Given the description of an element on the screen output the (x, y) to click on. 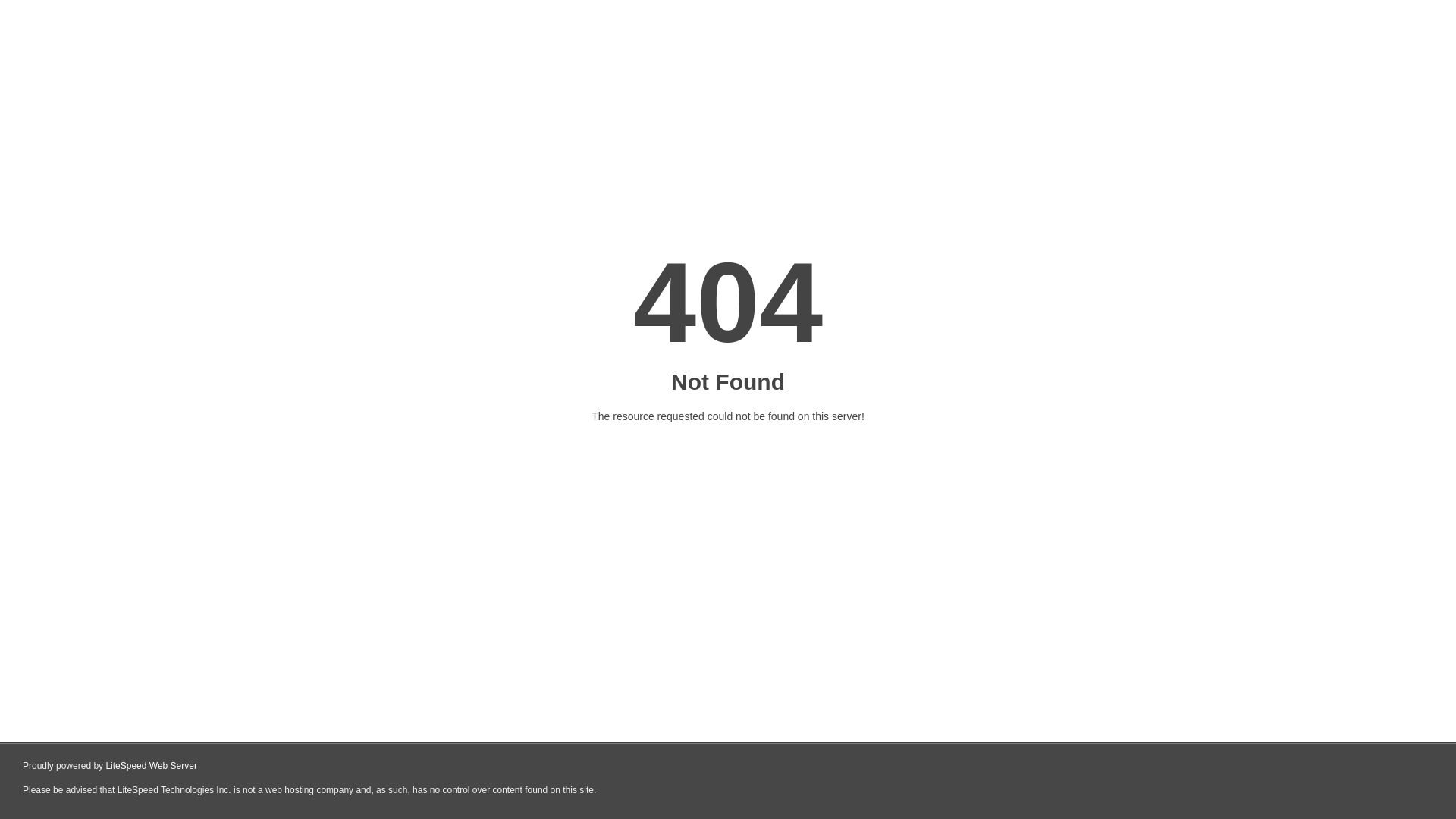
LiteSpeed Web Server Element type: text (151, 765)
